Given the description of an element on the screen output the (x, y) to click on. 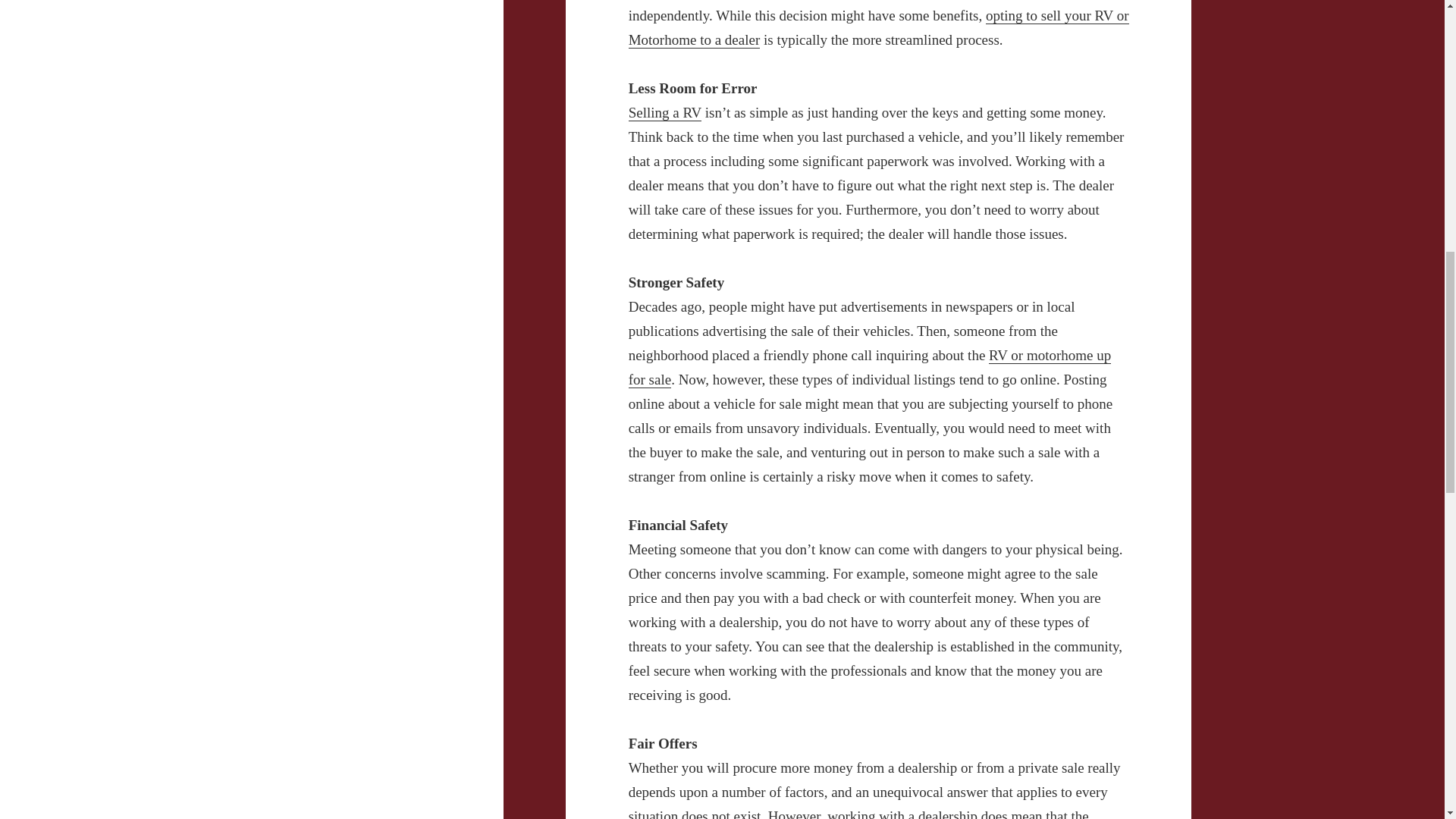
Selling a RV (664, 112)
RV or motorhome up for sale (870, 367)
opting to sell your RV or Motorhome to a dealer (878, 27)
